Given the description of an element on the screen output the (x, y) to click on. 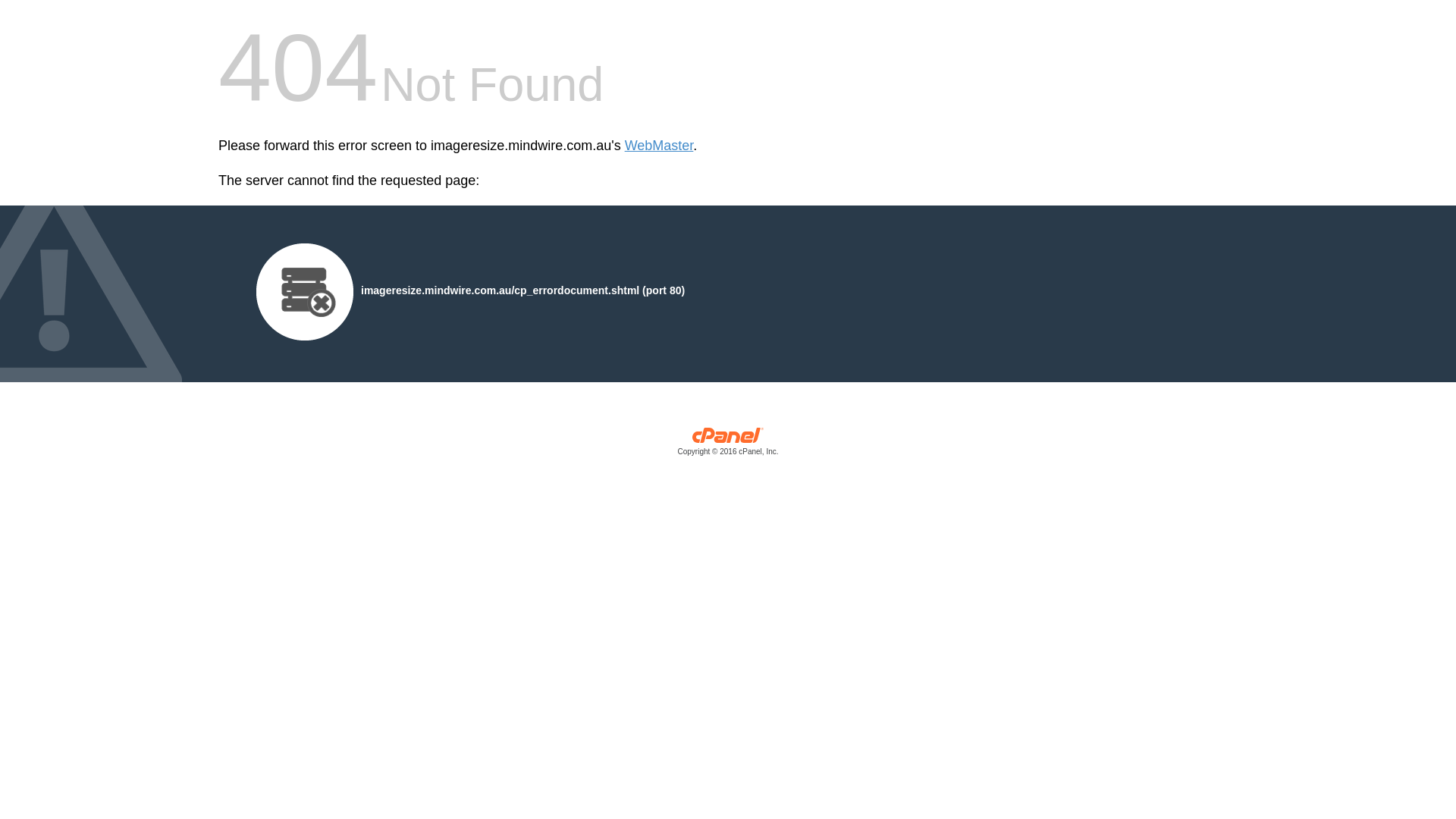
WebMaster Element type: text (658, 145)
